Given the description of an element on the screen output the (x, y) to click on. 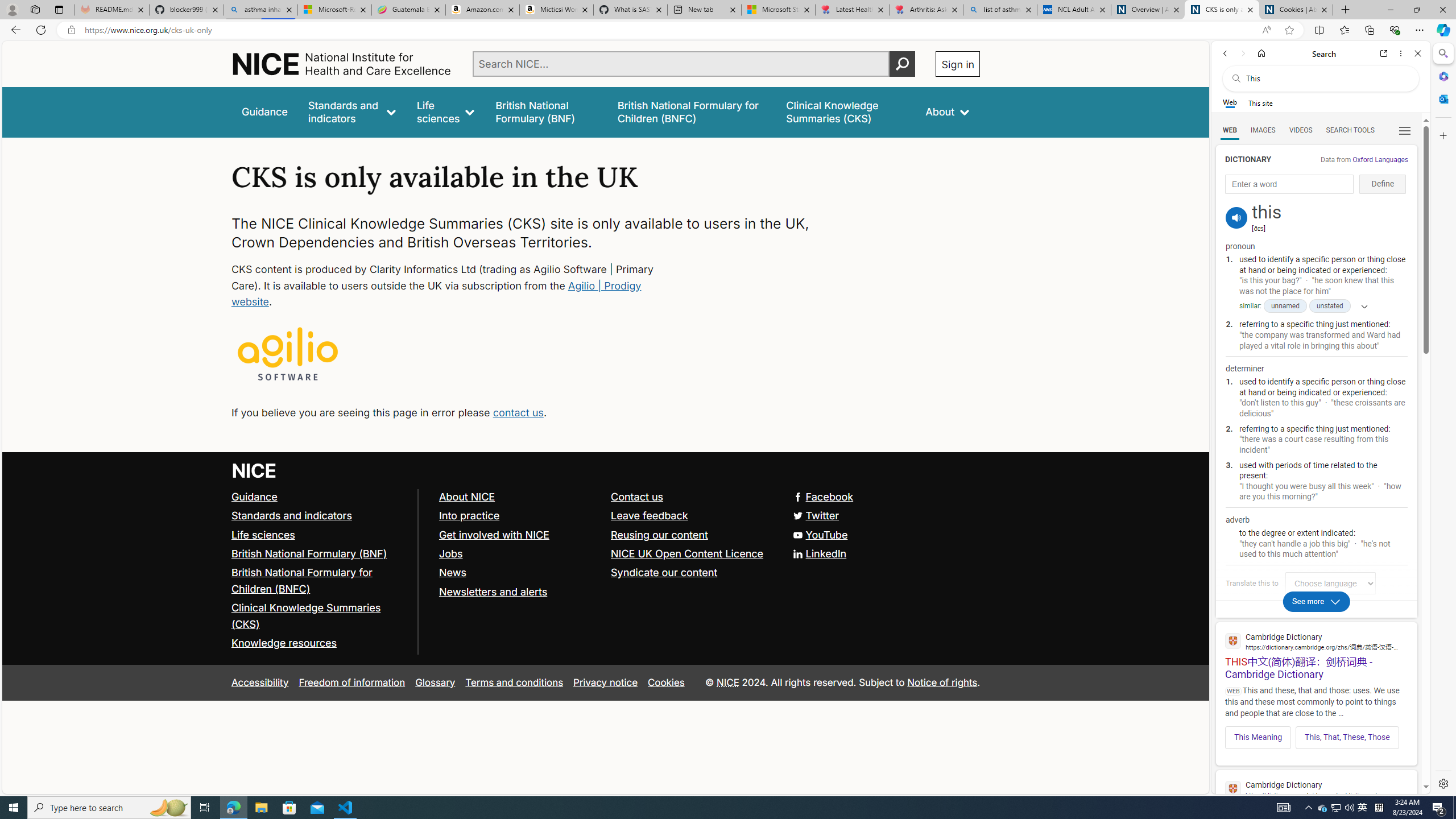
This MeaningThis, That, These, Those (1315, 734)
NICE UK Open Content Licence (687, 553)
Contact us (637, 496)
Enter a word (1289, 184)
Define (1382, 184)
Knowledge resources (283, 643)
Newsletters and alerts (492, 591)
This, That, These, Those (1347, 737)
